Given the description of an element on the screen output the (x, y) to click on. 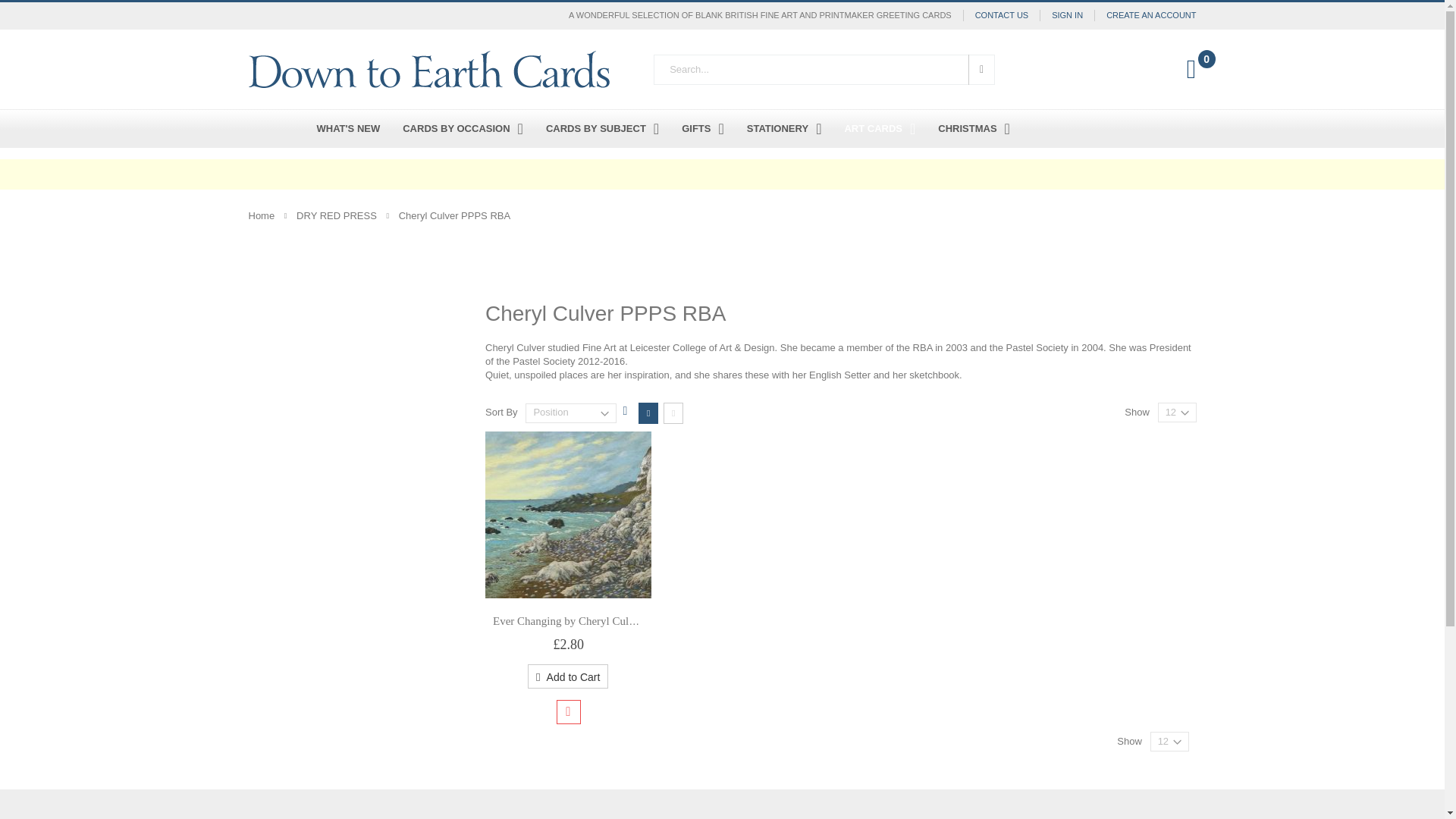
WHAT'S NEW (347, 128)
Go to Home Page (261, 215)
CREATE AN ACCOUNT (1144, 15)
CONTACT US (1001, 15)
Grid (648, 413)
Add to Wish List (568, 711)
CARDS BY SUBJECT (601, 128)
Down To Earth Cards (429, 68)
List (672, 413)
CARDS BY OCCASION (462, 128)
Add to Cart (567, 676)
SIGN IN (1066, 15)
